Given the description of an element on the screen output the (x, y) to click on. 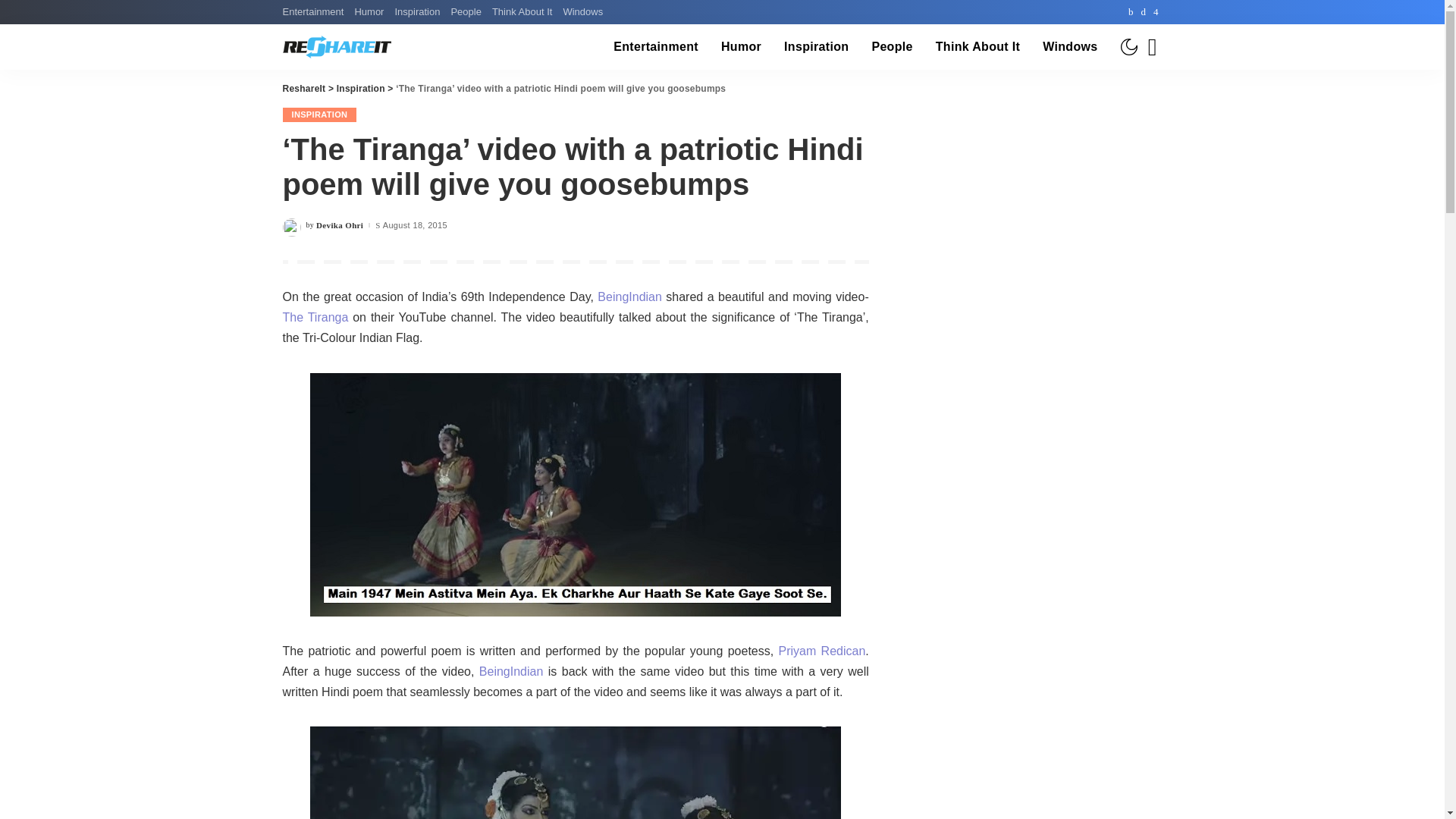
Windows (1069, 46)
ReshareIt (336, 47)
Humor (741, 46)
Entertainment (656, 46)
Inspiration (416, 11)
Windows (582, 11)
Think About It (521, 11)
Entertainment (315, 11)
2015-08-18T16:32:31-05:00 (414, 225)
People (465, 11)
Go to the Inspiration Category archives. (360, 88)
Inspiration (816, 46)
Go to ReshareIt. (303, 88)
People (891, 46)
Search (1140, 89)
